Given the description of an element on the screen output the (x, y) to click on. 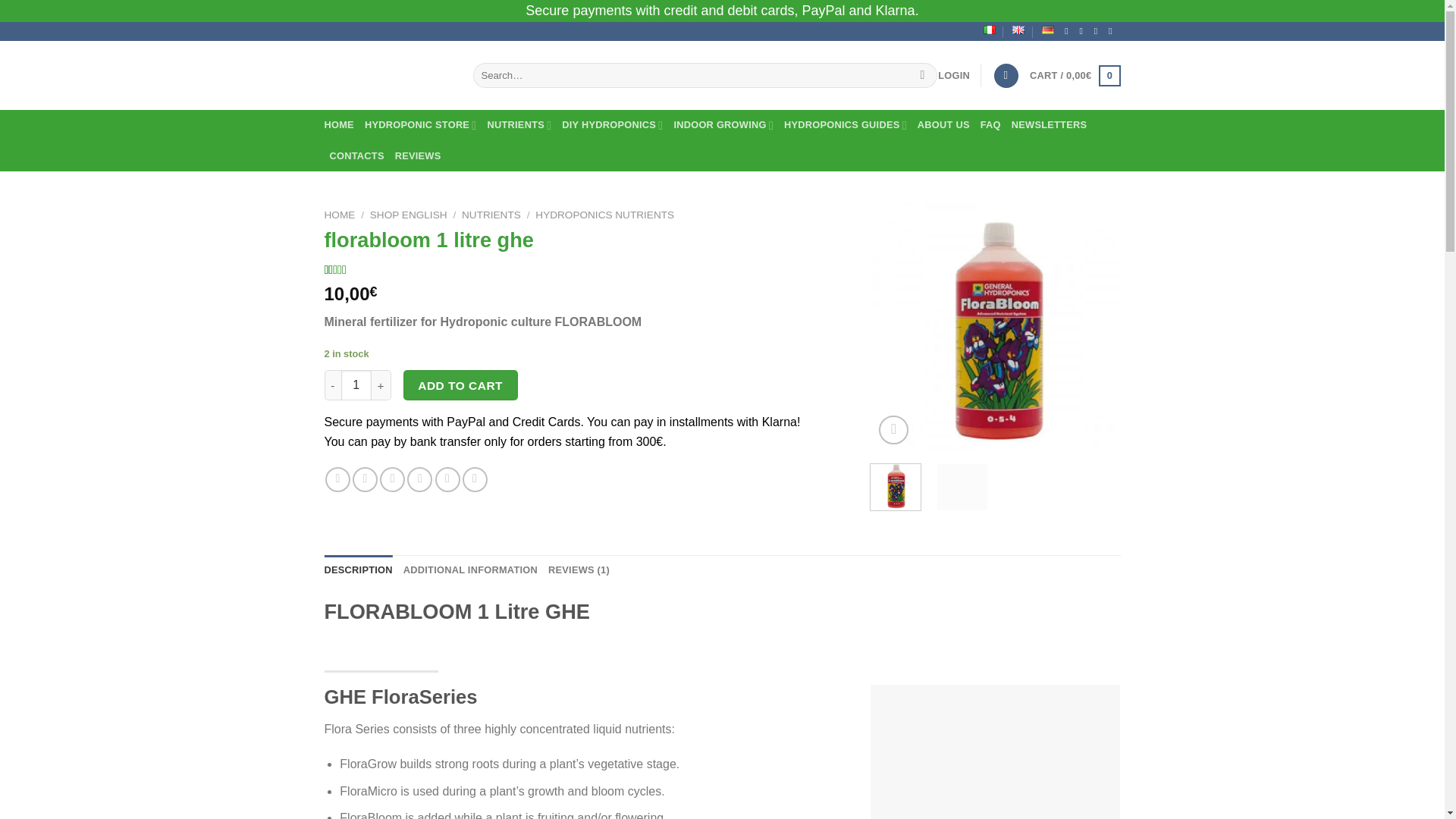
Login (953, 75)
HYDROPONIC STORE (421, 124)
1 (355, 385)
Zoom (893, 430)
1 customer review (354, 269)
Home - Sistemi di Coltivazione Idroponica (386, 74)
Search (922, 75)
LOGIN (953, 75)
HOME (338, 124)
Wishlist (1004, 75)
Cart (1074, 75)
